Given the description of an element on the screen output the (x, y) to click on. 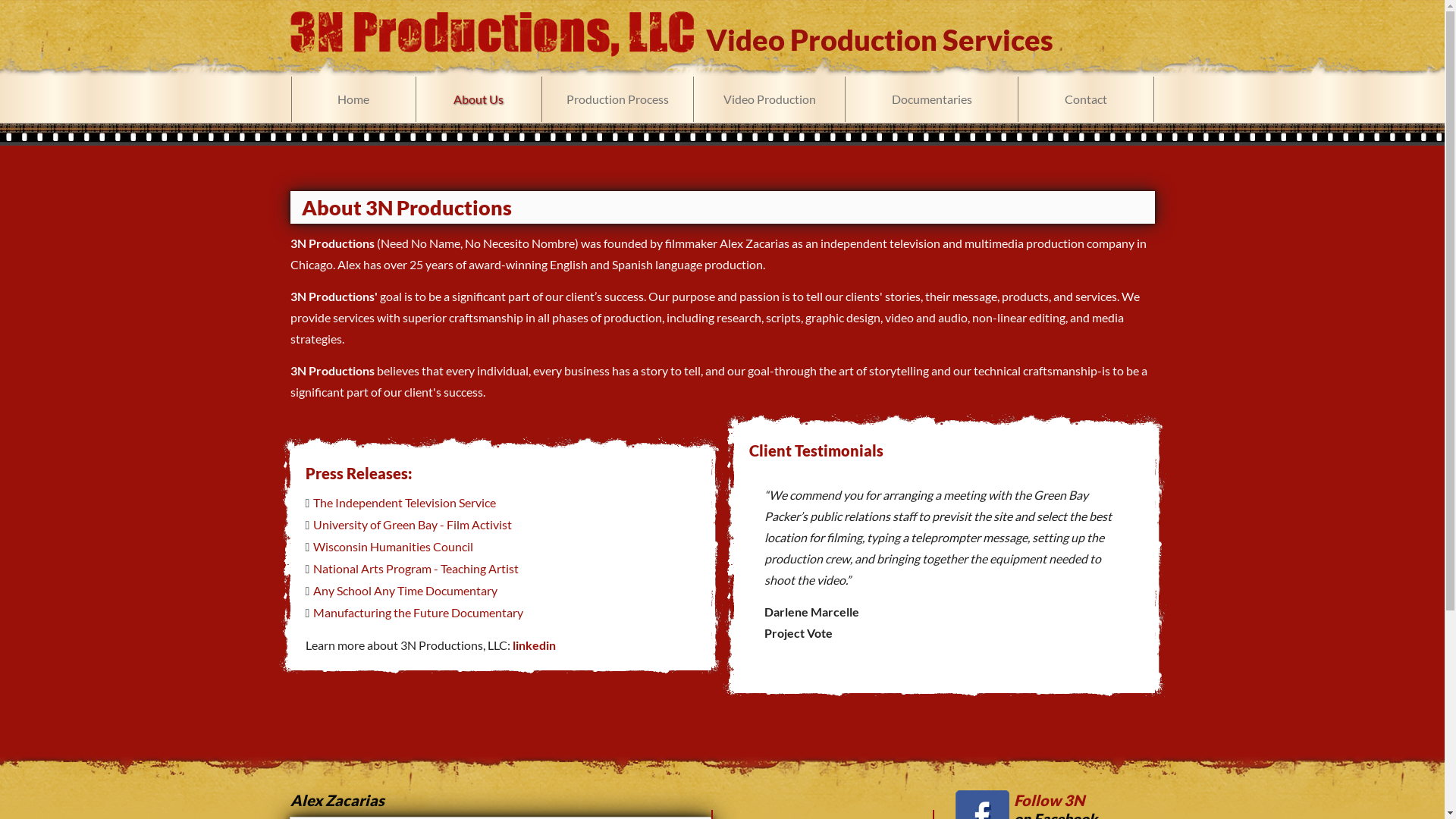
The Independent Television Service Element type: text (404, 502)
Any School Any Time Documentary Element type: text (405, 590)
Manufacturing the Future Documentary Element type: text (418, 612)
National Arts Program - Teaching Artist Element type: text (415, 568)
Home Element type: text (352, 99)
Video Production Element type: text (768, 99)
Documentaries Element type: text (931, 99)
About Us Element type: text (478, 99)
Next Element type: text (1138, 594)
Wisconsin Humanities Council Element type: text (393, 546)
Previous Element type: text (748, 594)
Contact Element type: text (1085, 99)
University of Green Bay - Film Activist Element type: text (412, 524)
linkedin Element type: text (533, 644)
Production Process Element type: text (617, 99)
